Given the description of an element on the screen output the (x, y) to click on. 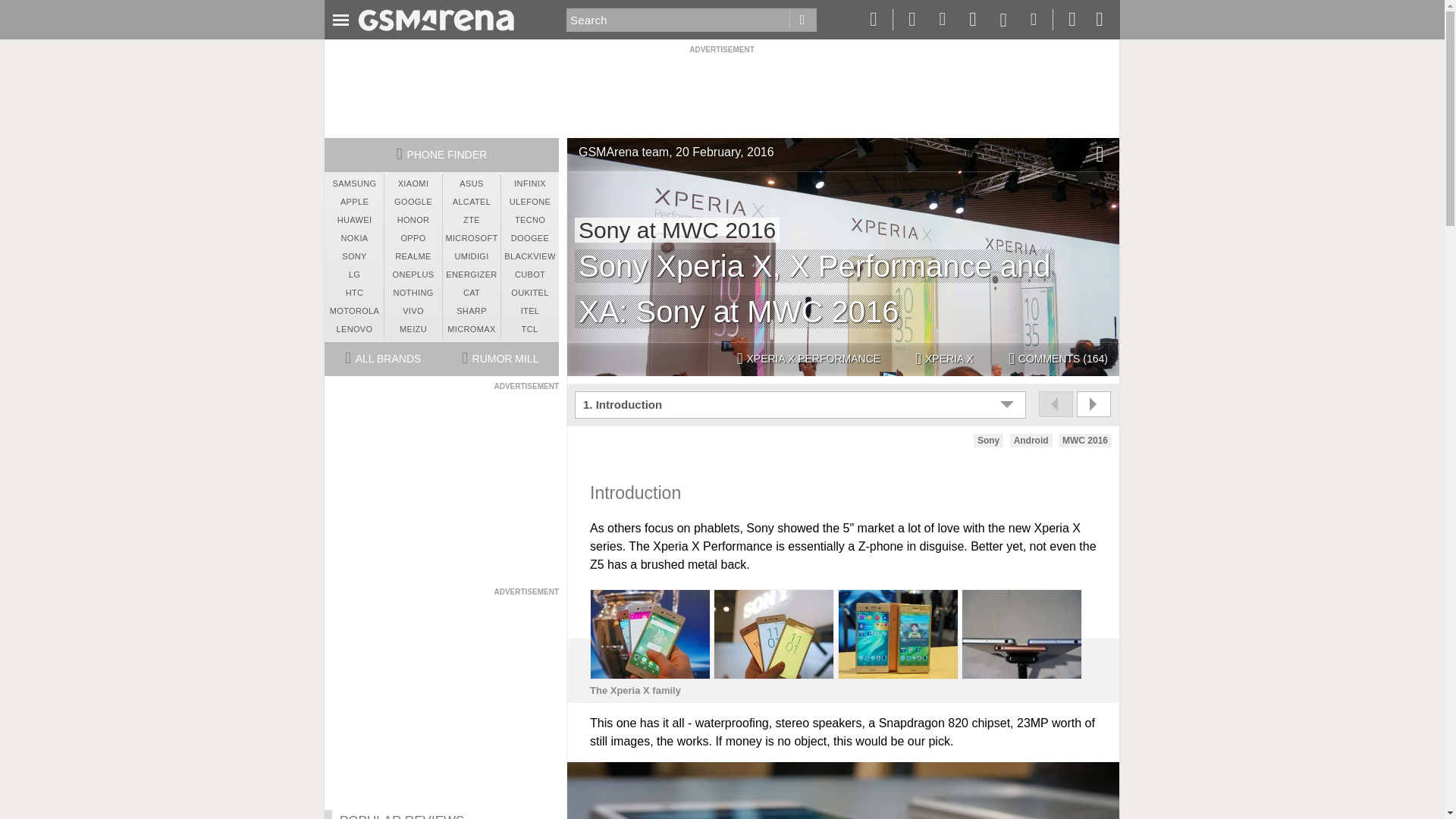
1. Introduction (802, 404)
Go (802, 19)
Previous page (1056, 403)
XPERIA X PERFORMANCE (808, 359)
1. Introduction (802, 404)
Go (802, 19)
Next page (1093, 403)
XPERIA X (944, 359)
